Given the description of an element on the screen output the (x, y) to click on. 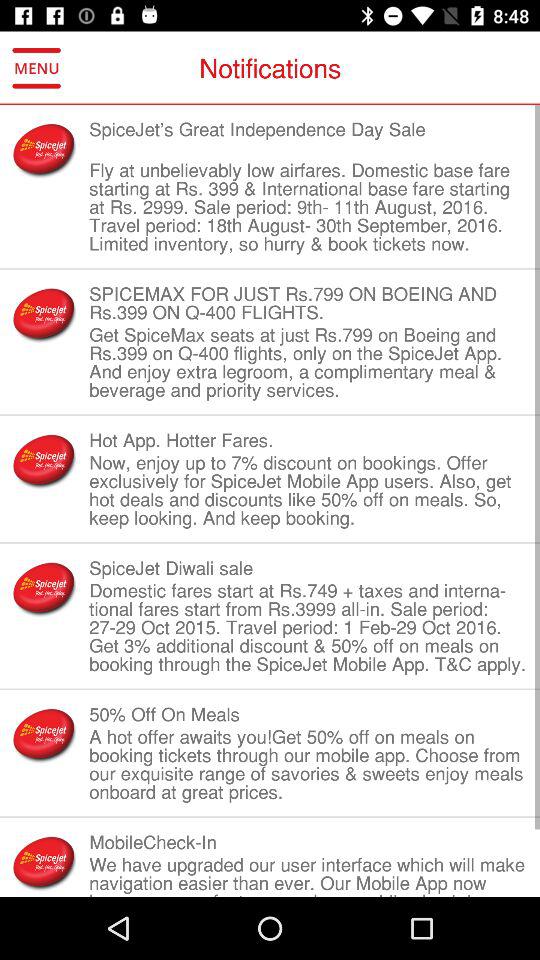
turn on the item next to the notifications item (36, 68)
